Given the description of an element on the screen output the (x, y) to click on. 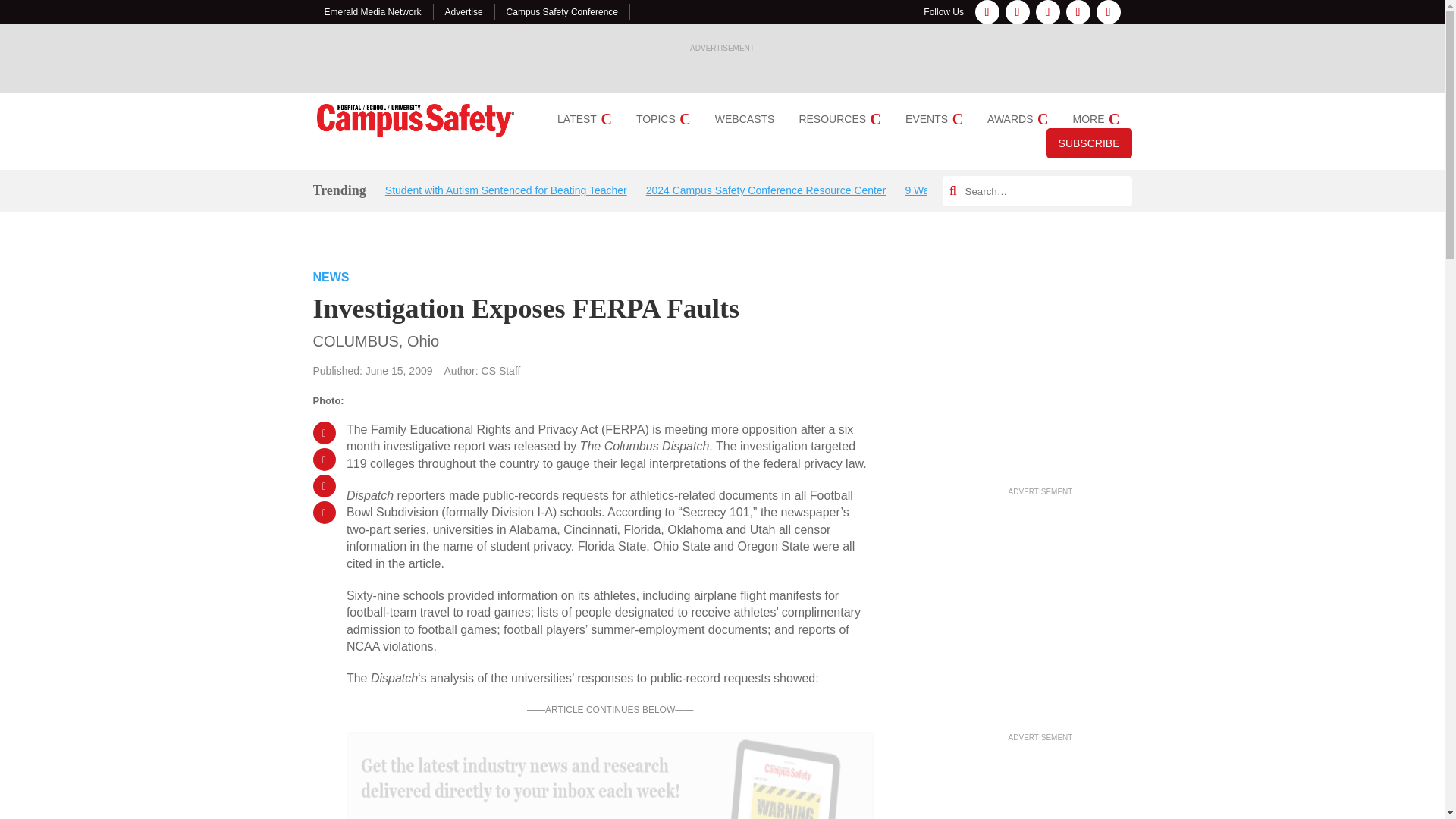
Follow on LinkedIn (1047, 12)
TOPICS (663, 118)
Follow on Youtube (1108, 12)
Advertise (464, 11)
Follow on Facebook (986, 12)
LATEST (584, 118)
Emerald Media Network (373, 11)
Campus Safety Conference (561, 11)
Follow on Instagram (1017, 12)
Follow on X (1077, 12)
